Given the description of an element on the screen output the (x, y) to click on. 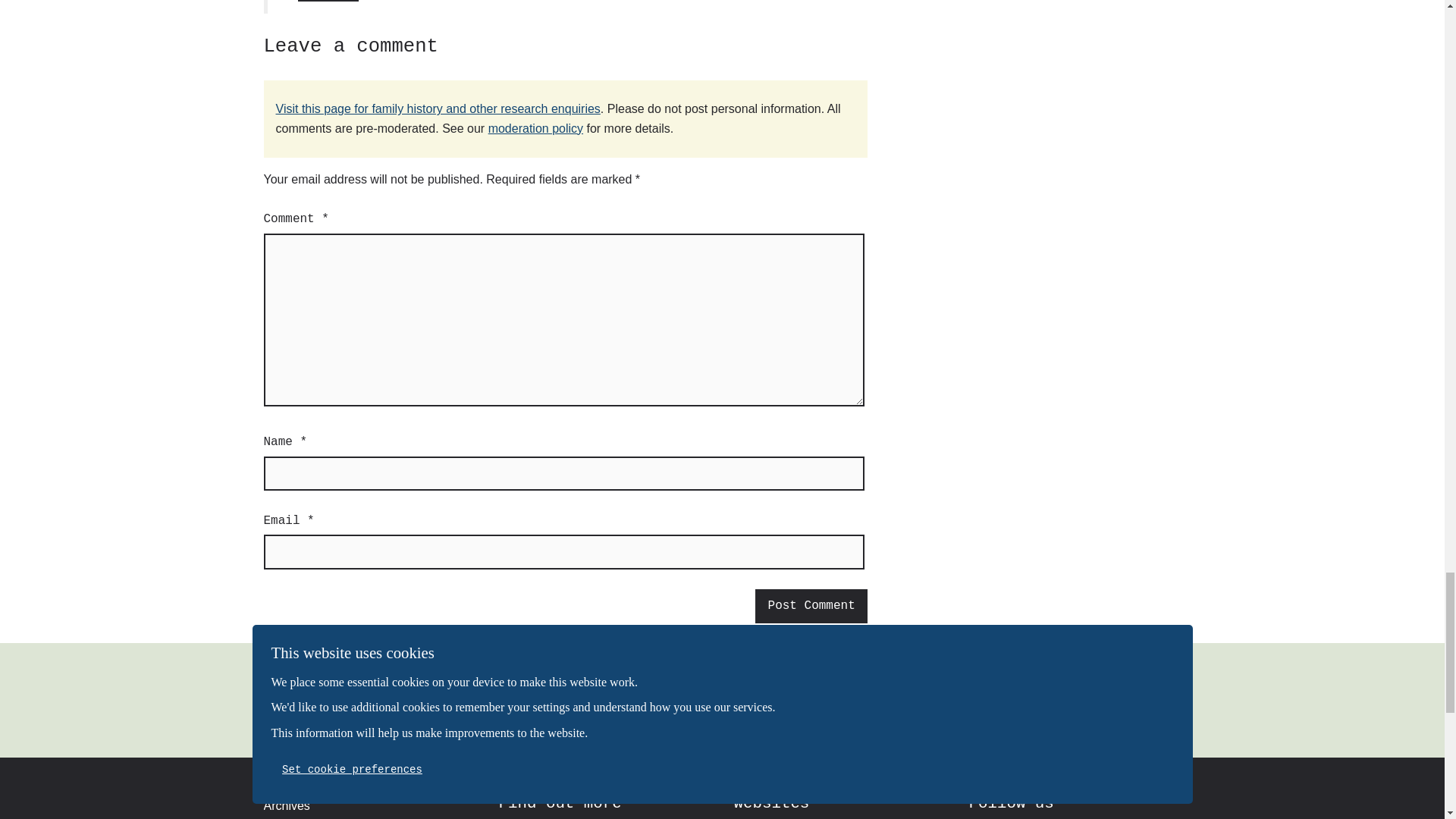
Post Comment (811, 606)
